Given the description of an element on the screen output the (x, y) to click on. 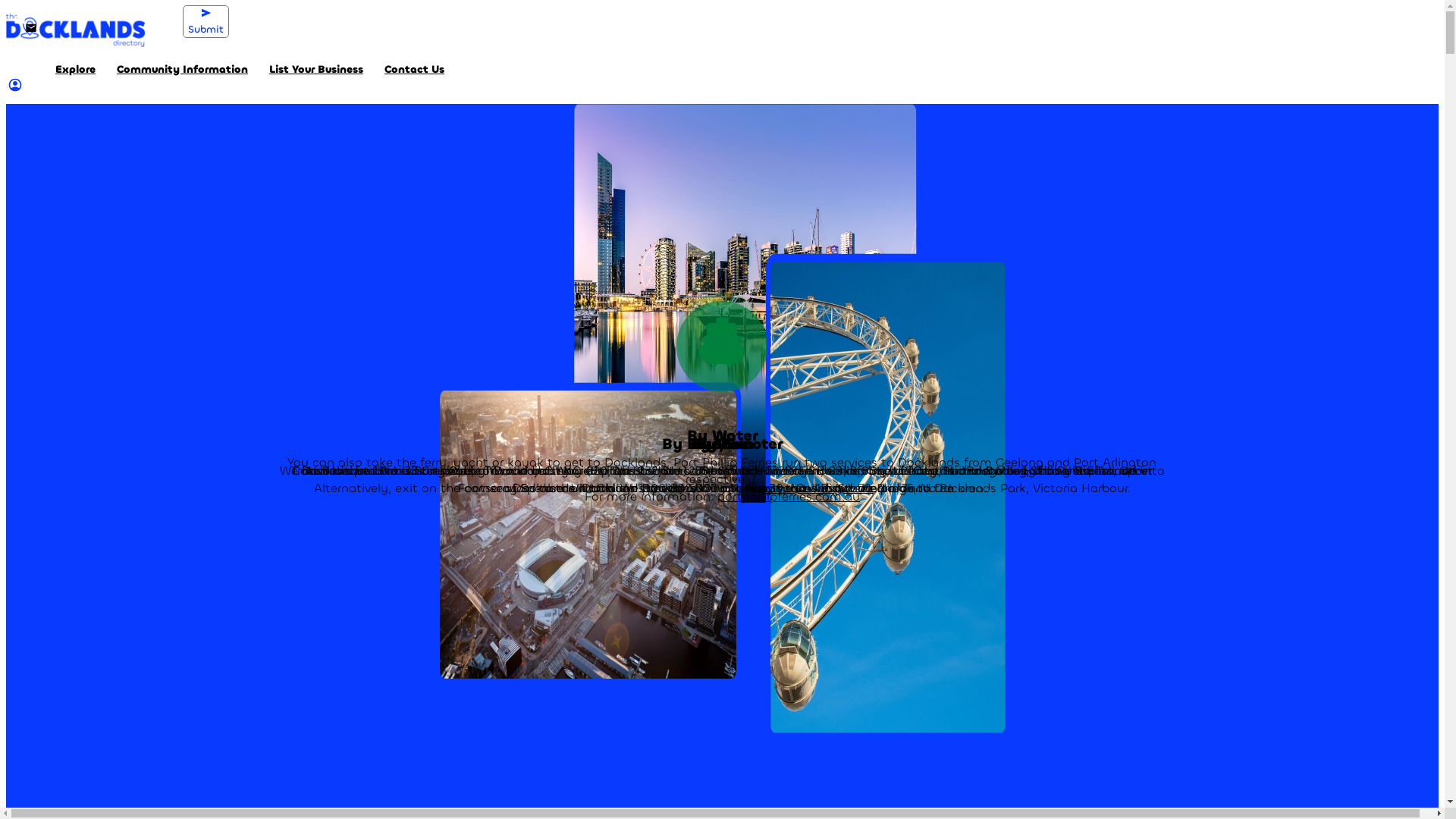
www.ptv.vic.gov.au Element type: text (817, 487)
portphillipferries.com.au Element type: text (788, 496)
Contact Us Element type: text (414, 69)
List Your Business Element type: text (316, 69)
Submit Element type: text (205, 21)
Explore Element type: text (75, 69)
Community Information Element type: text (181, 69)
